Given the description of an element on the screen output the (x, y) to click on. 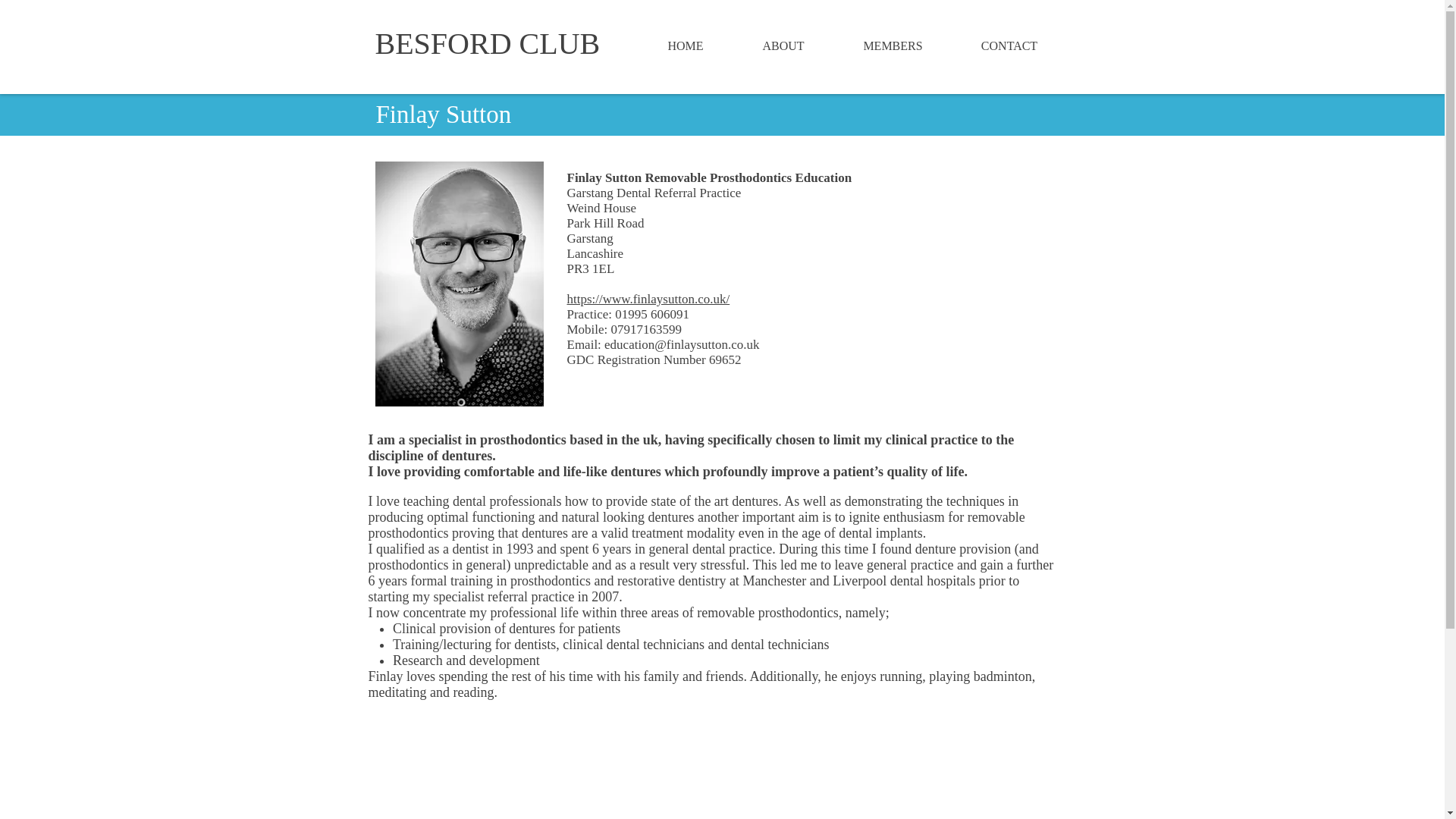
ABOUT (782, 46)
MEMBERS (893, 46)
GDC Registration Number 69652 (654, 359)
CONTACT (1009, 46)
01995 606091 (651, 314)
Google Maps (713, 771)
HOME (686, 46)
